Given the description of an element on the screen output the (x, y) to click on. 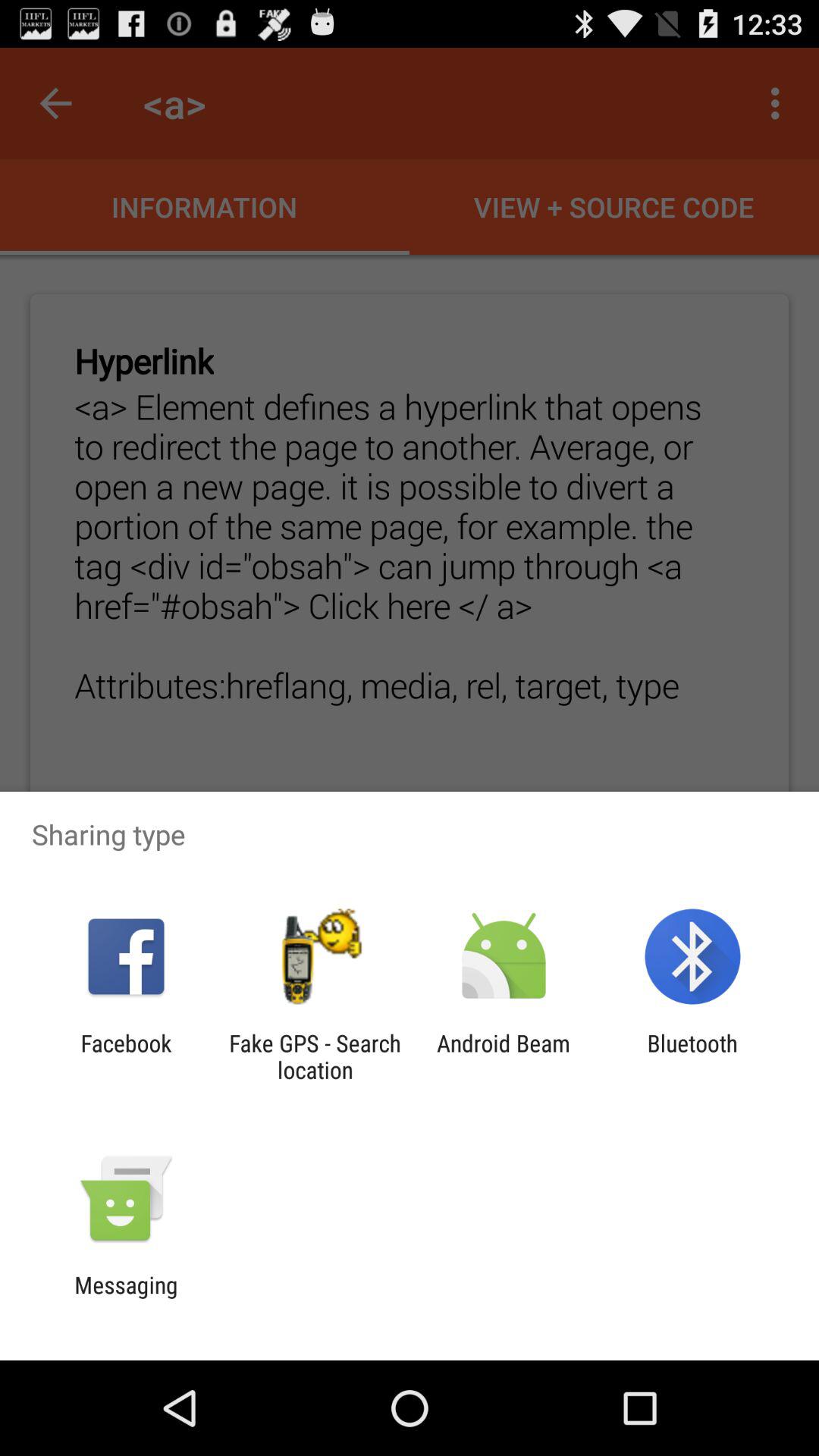
open app next to bluetooth item (503, 1056)
